Given the description of an element on the screen output the (x, y) to click on. 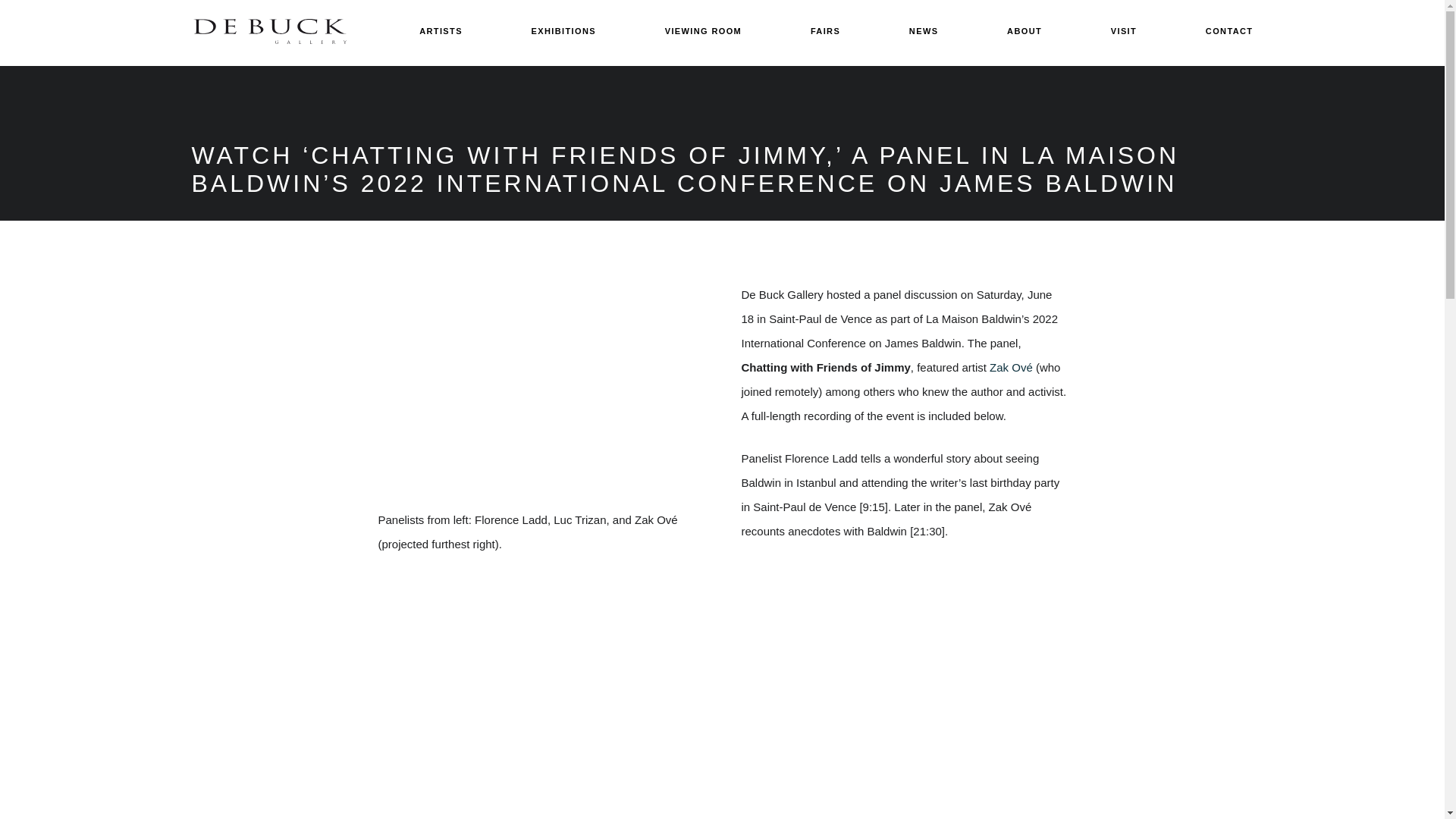
FAIRS (825, 32)
CONTACT (1229, 32)
VIEWING ROOM (703, 32)
VISIT (1123, 32)
EXHIBITIONS (563, 32)
NEWS (923, 32)
ABOUT (1024, 32)
ARTISTS (441, 32)
